Given the description of an element on the screen output the (x, y) to click on. 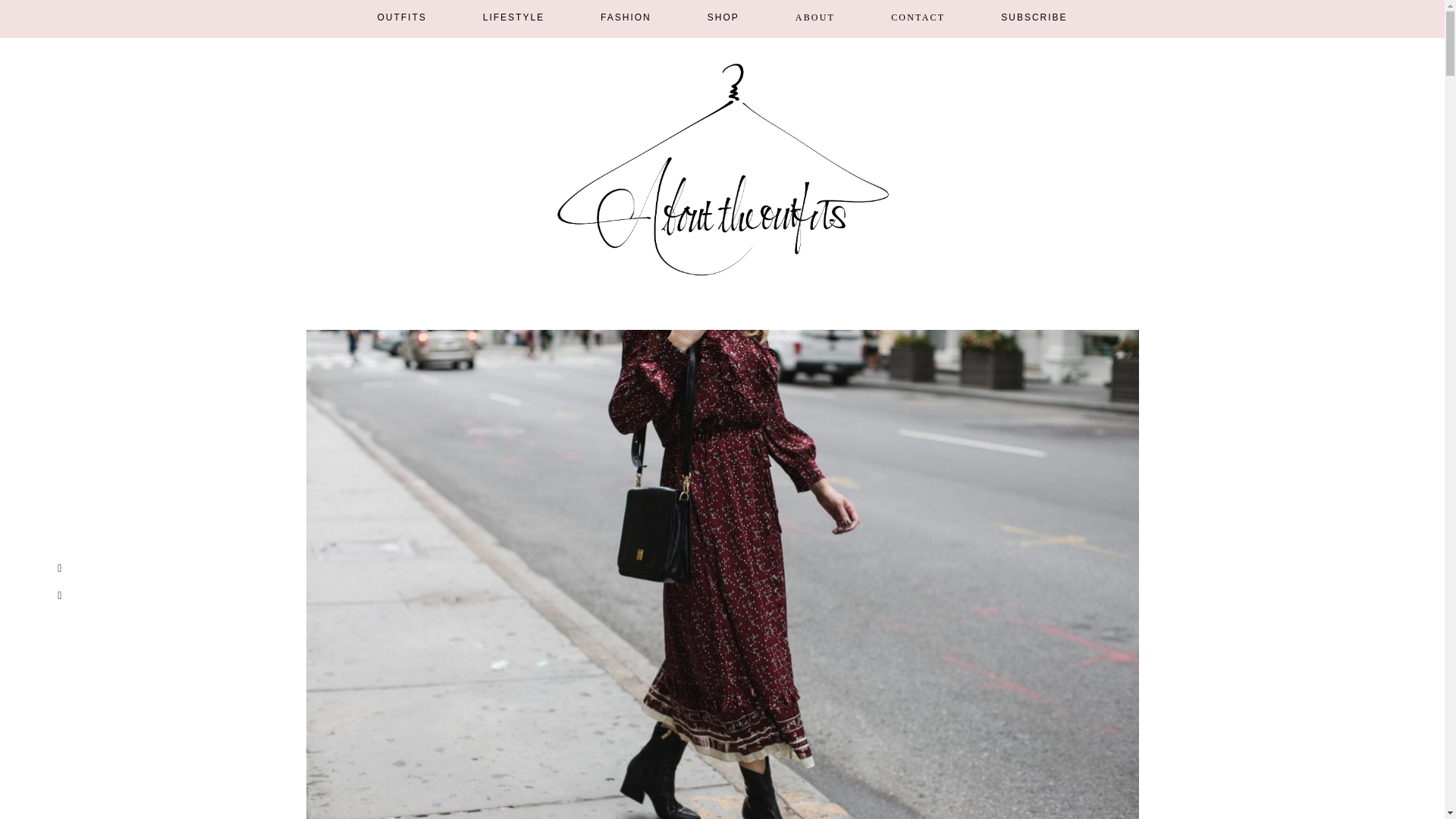
OUTFITS (401, 17)
SUBSCRIBE (1034, 17)
LIFESTYLE (513, 17)
CONTACT (917, 17)
SHOP (723, 17)
FASHION (624, 17)
ABOUT (814, 17)
